Given the description of an element on the screen output the (x, y) to click on. 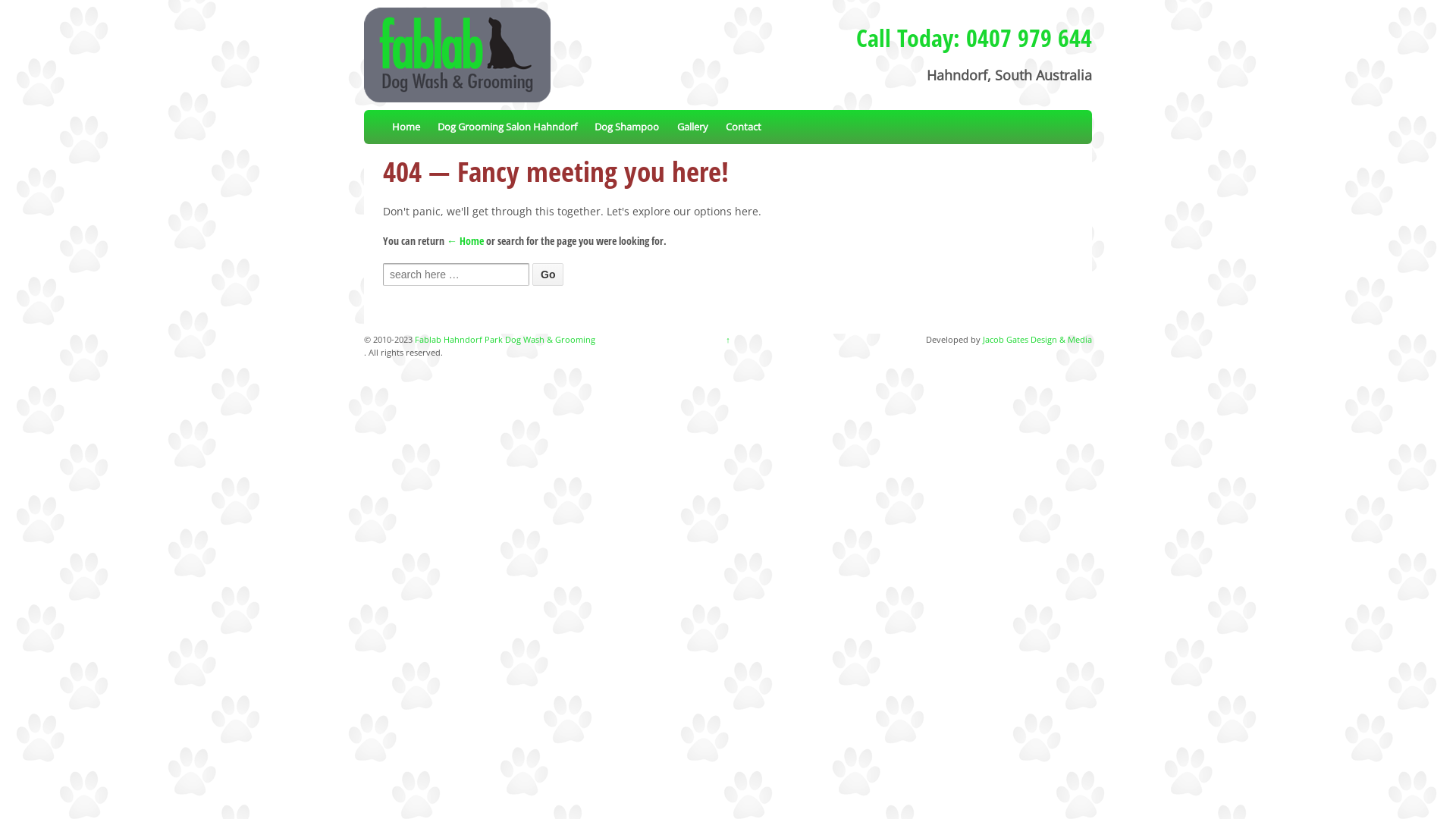
Contact Element type: text (743, 126)
Go Element type: text (547, 274)
Dog Grooming Salon Hahndorf Element type: text (506, 126)
Home Element type: text (405, 126)
Dog Shampoo Element type: text (627, 126)
Fablab Hahndorf Park Dog Wash & Grooming Element type: text (503, 339)
Jacob Gates Design & Media Element type: text (1037, 339)
Gallery Element type: text (692, 126)
